Given the description of an element on the screen output the (x, y) to click on. 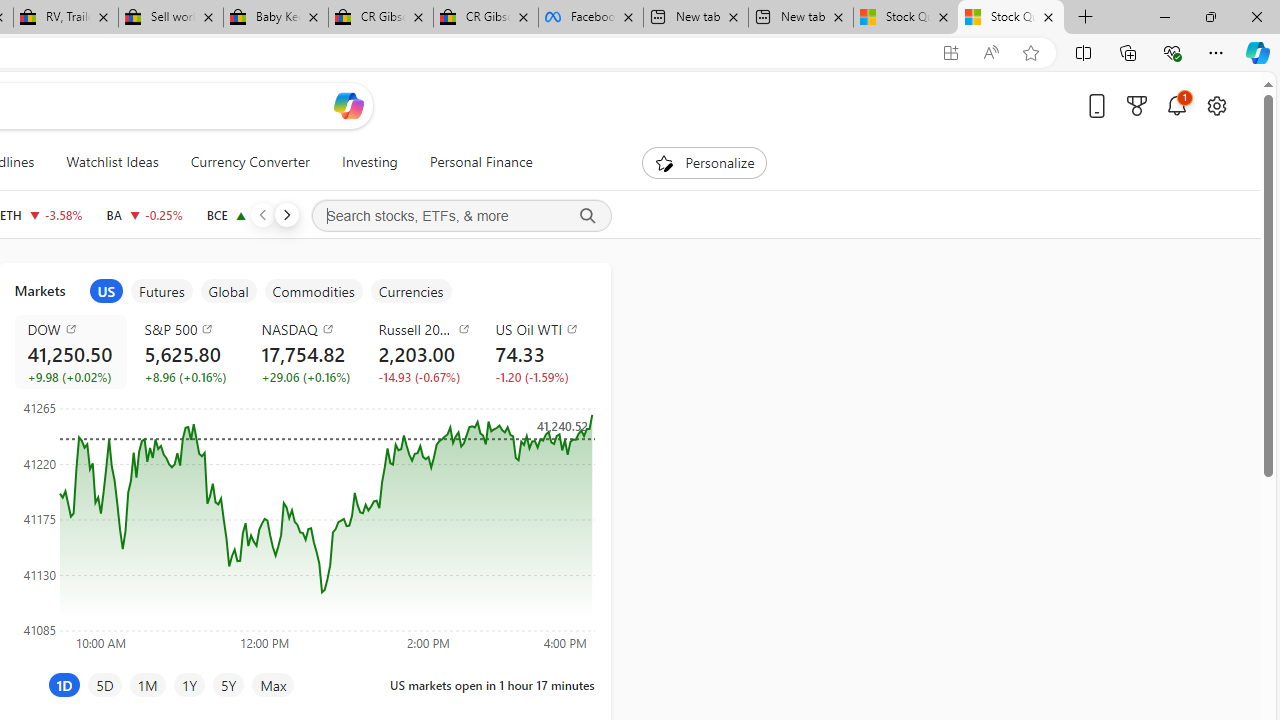
Personalize (703, 162)
